Given the description of an element on the screen output the (x, y) to click on. 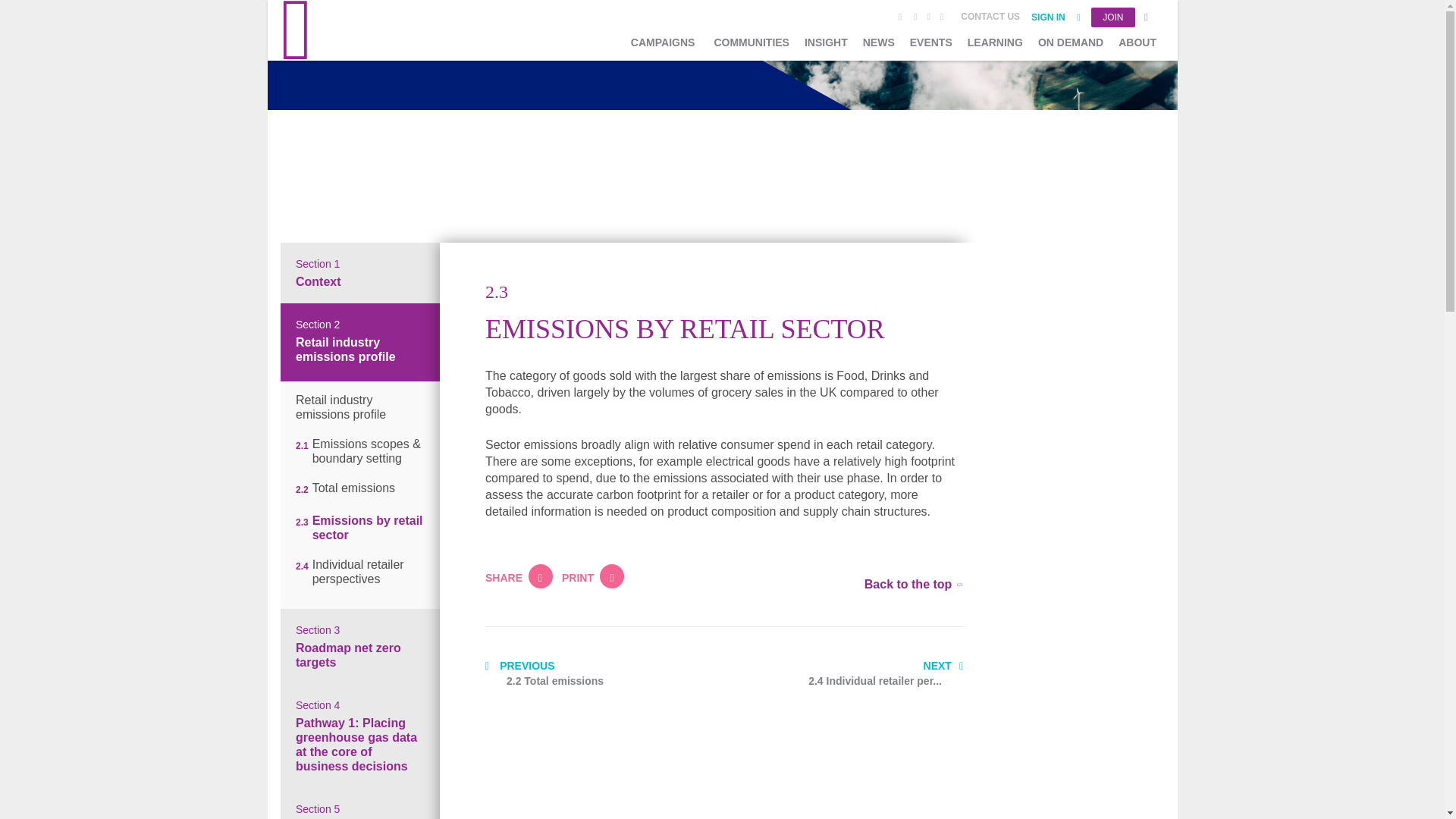
INSIGHT (826, 43)
CONTACT US (989, 16)
CAMPAIGNS (662, 43)
NEWS (879, 43)
ON DEMAND (1070, 43)
SIGN IN (1055, 17)
BRC (335, 30)
LEARNING (995, 43)
COMMUNITIES (751, 43)
EVENTS (931, 43)
